Given the description of an element on the screen output the (x, y) to click on. 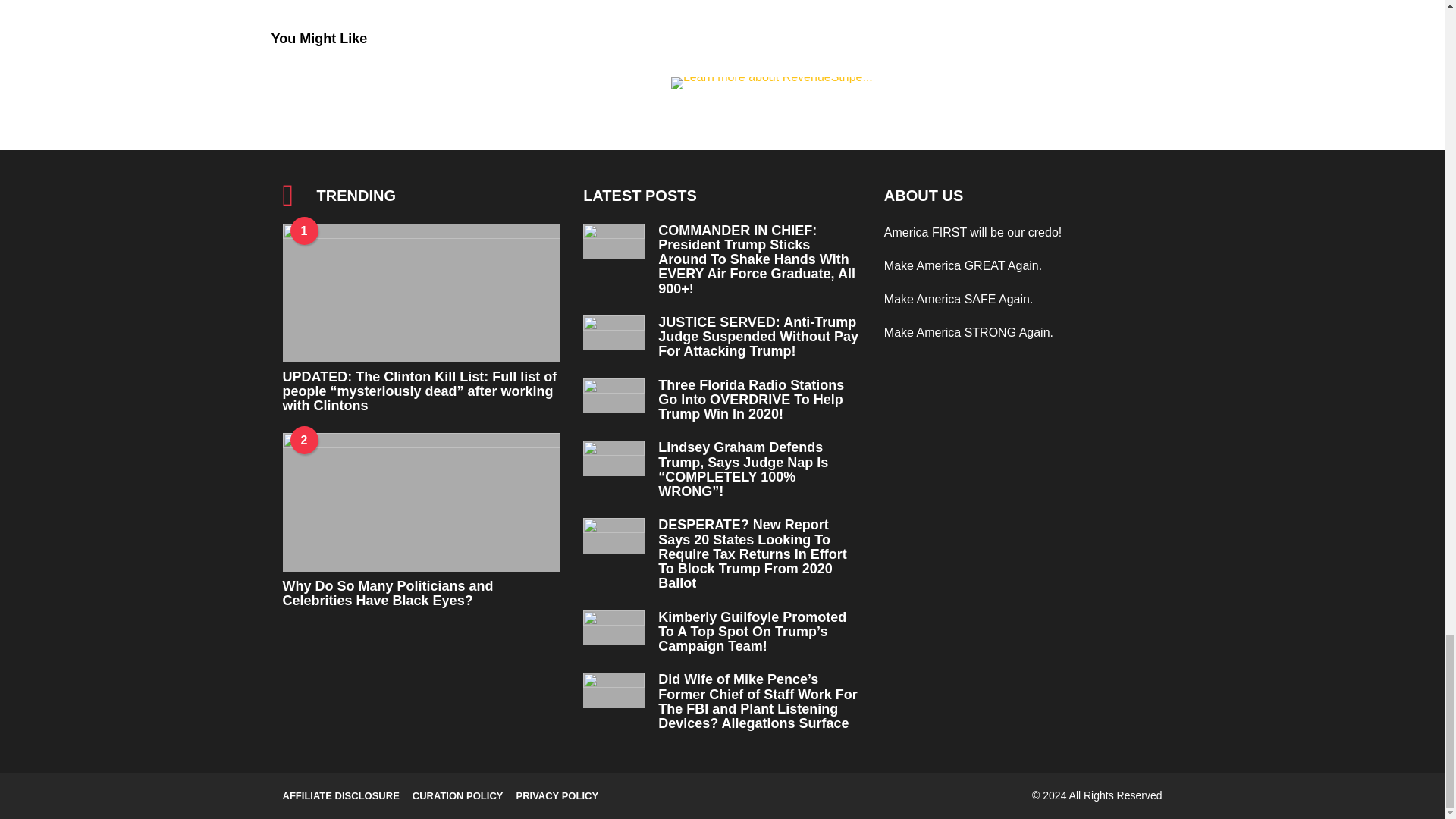
Why Do So Many Politicians and Celebrities Have Black Eyes? (421, 502)
